Given the description of an element on the screen output the (x, y) to click on. 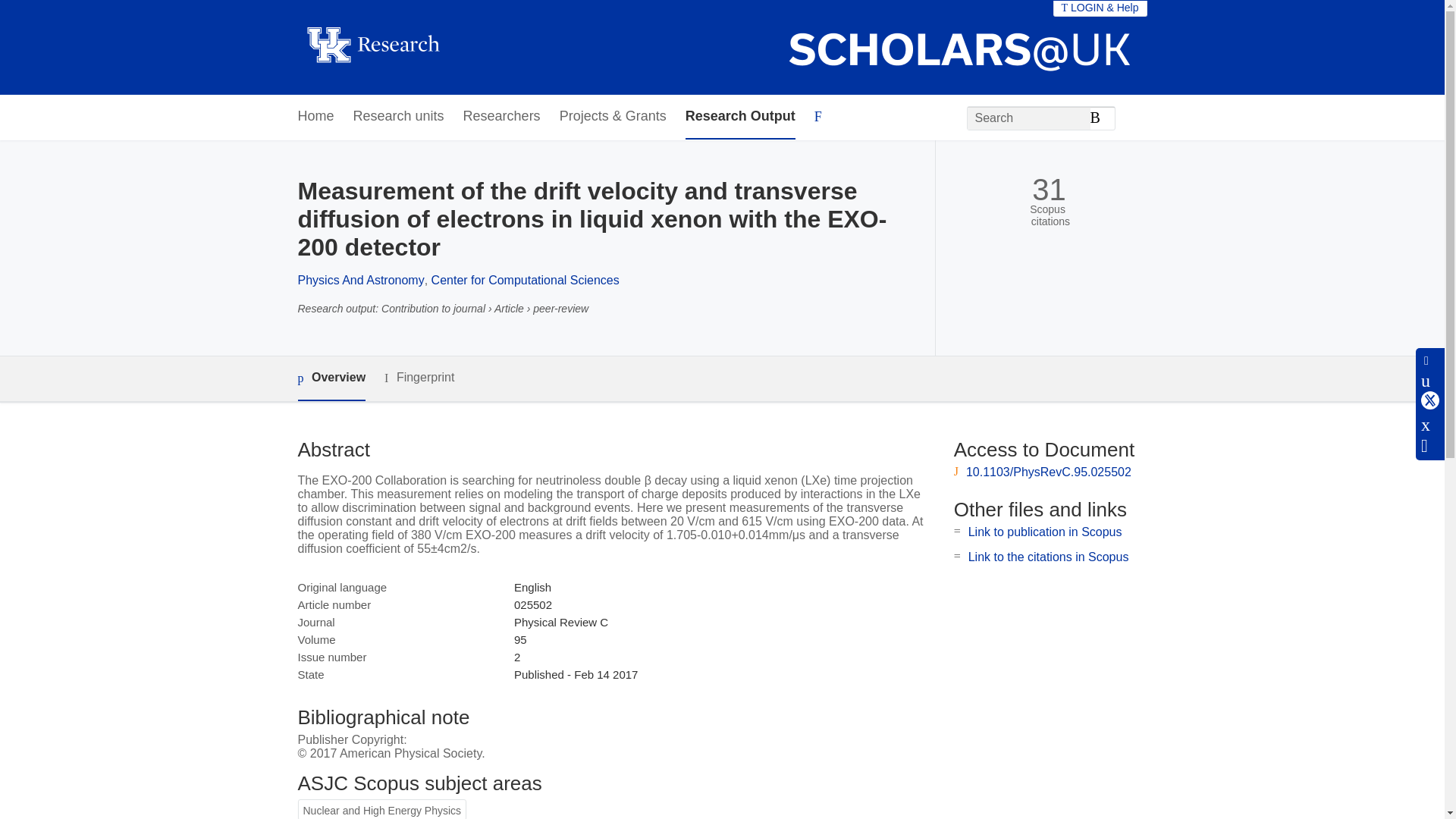
Researchers (501, 117)
Physics And Astronomy (360, 279)
University of Kentucky Home (372, 47)
Link to the citations in Scopus (1048, 556)
Fingerprint (419, 377)
Center for Computational Sciences (525, 279)
Research Output (739, 117)
Overview (331, 378)
Link to publication in Scopus (1045, 531)
Research units (398, 117)
